Given the description of an element on the screen output the (x, y) to click on. 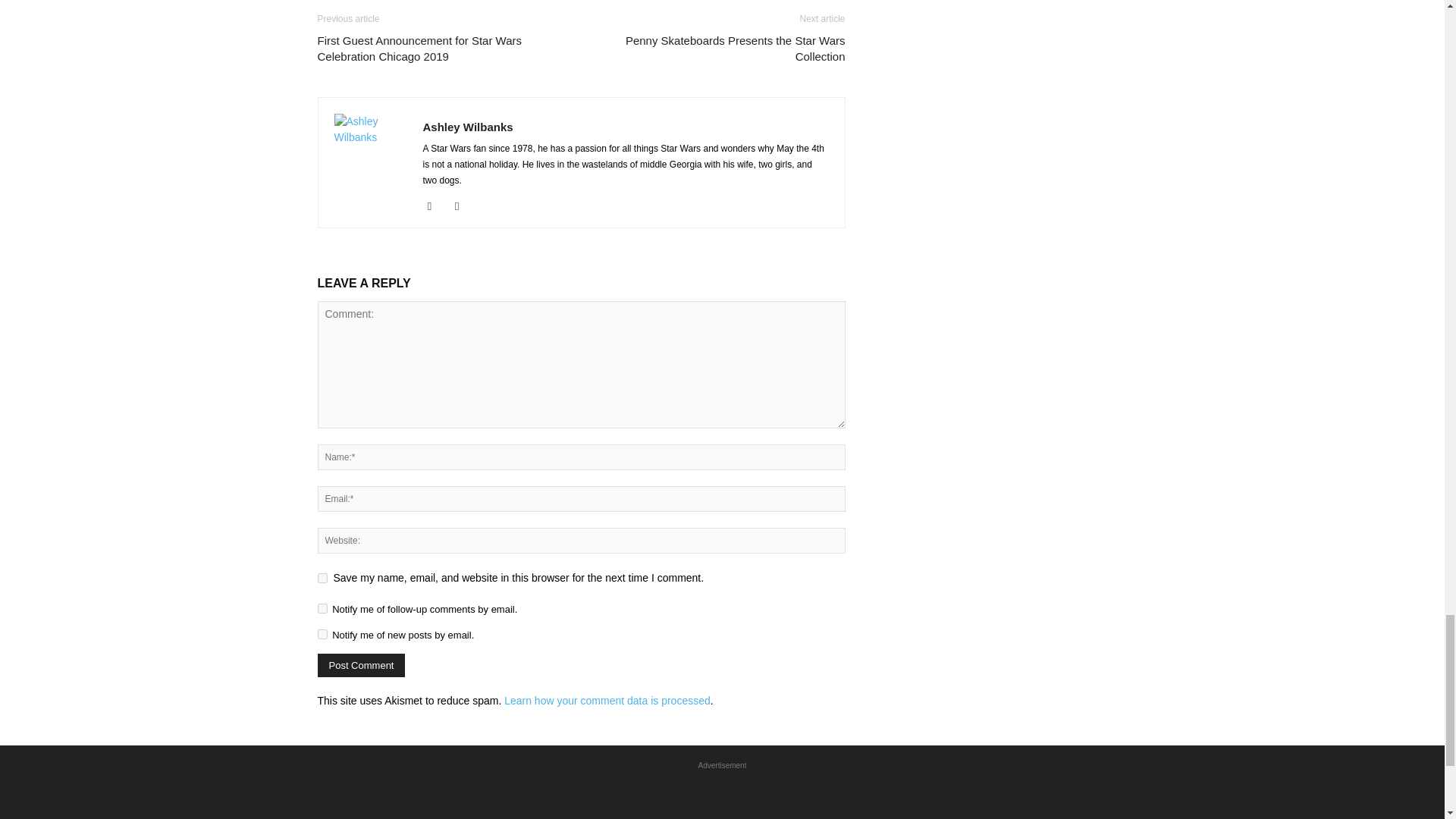
subscribe (321, 608)
Post Comment (360, 665)
yes (321, 578)
subscribe (321, 634)
